Given the description of an element on the screen output the (x, y) to click on. 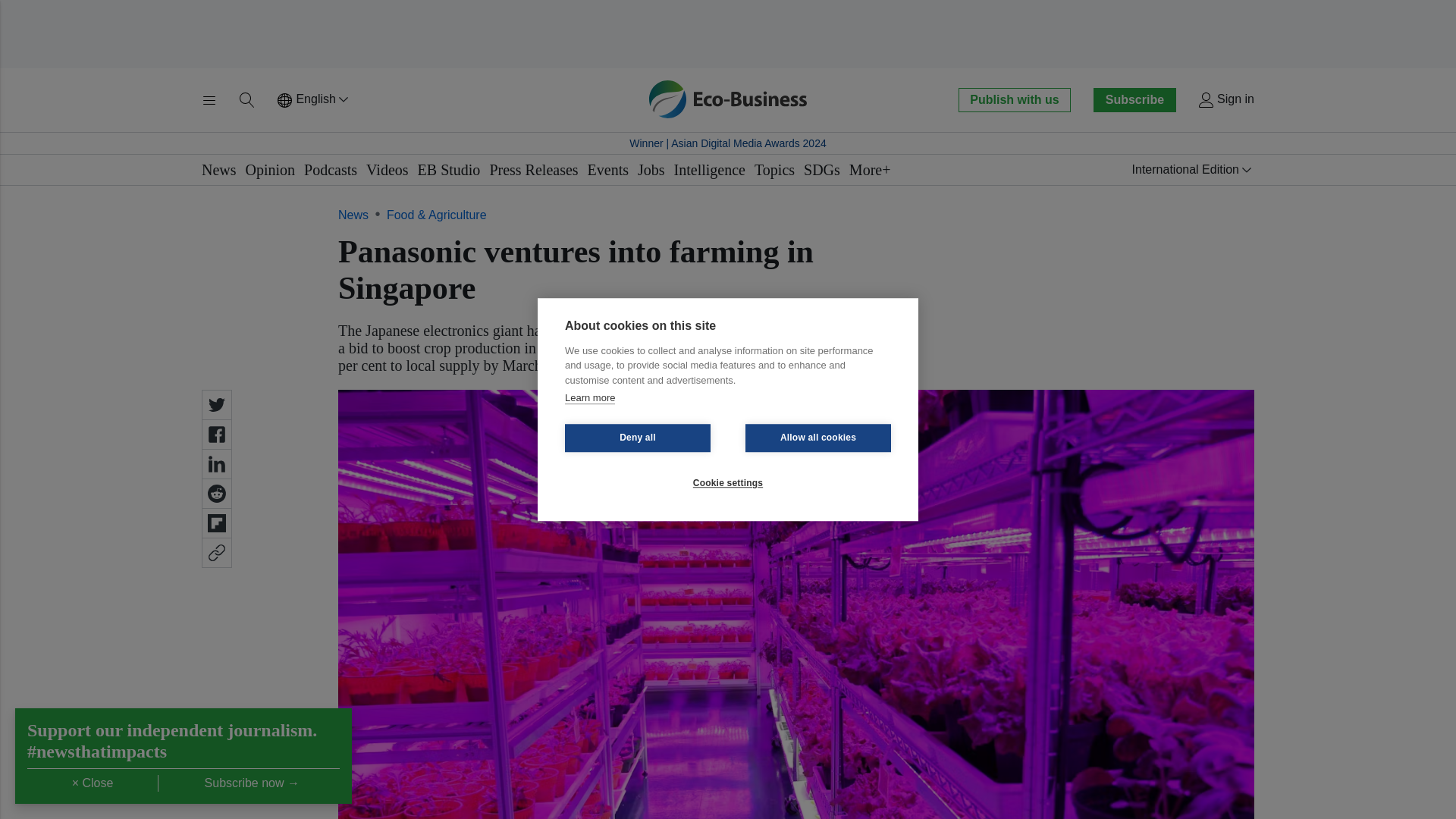
Search (247, 99)
Allow all cookies (818, 438)
News (218, 169)
Share on LinkedIn (216, 463)
Toggle menu (209, 99)
Share on Facebook (216, 434)
Subscribe (1133, 99)
3rd party ad content (727, 33)
Toggle search (247, 99)
Go to the Eco-Business homepage (727, 99)
English (314, 99)
Cookie settings (727, 482)
Learn more (589, 398)
Share on Twitter (216, 404)
Menu (209, 99)
